Given the description of an element on the screen output the (x, y) to click on. 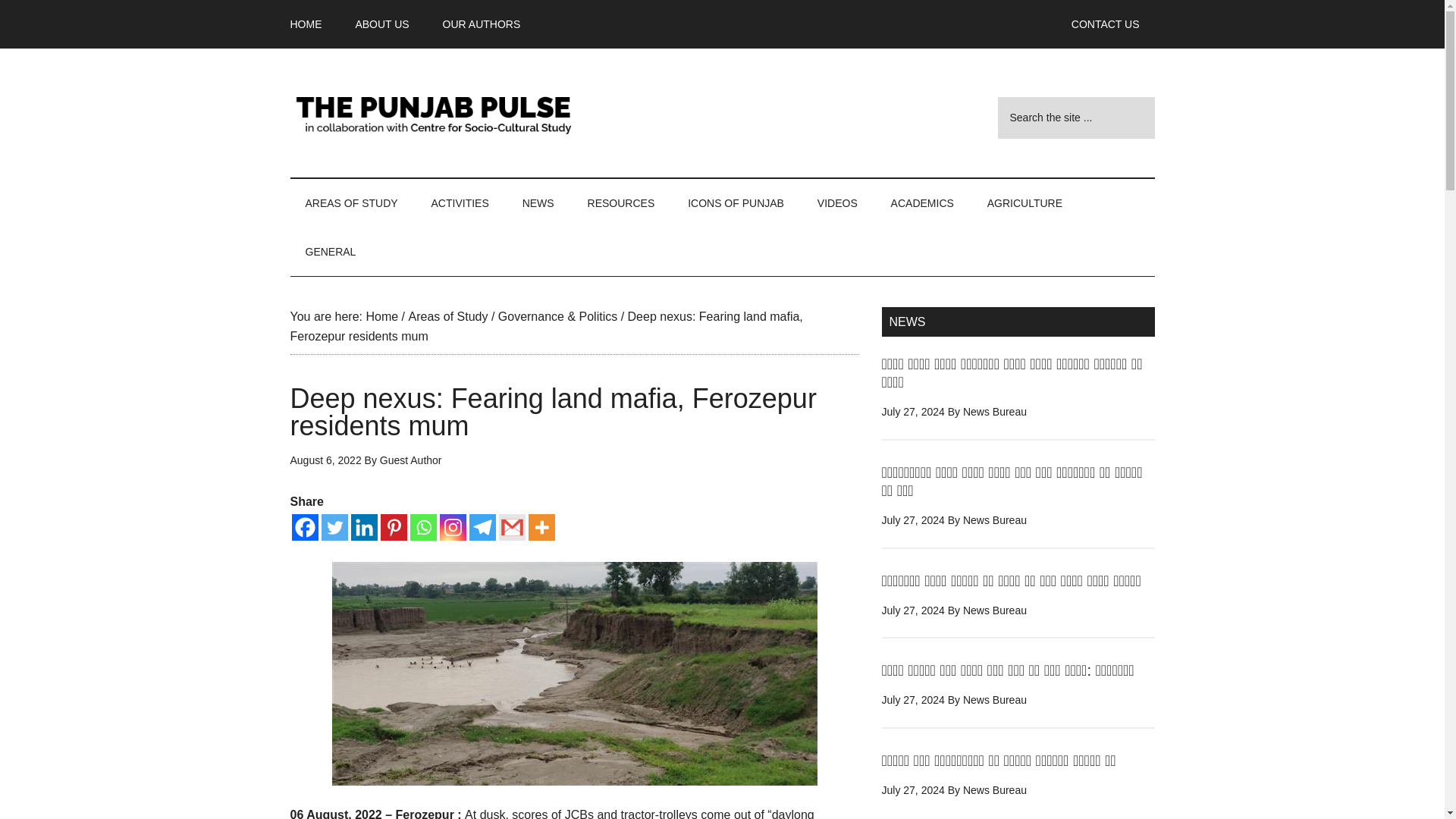
More (540, 527)
Facebook (304, 527)
GENERAL (330, 251)
Google Gmail (512, 527)
Linkedin (363, 527)
Telegram (481, 527)
Instagram (452, 527)
The Punjab Pulse (433, 112)
Guest Author (411, 460)
AGRICULTURE (1024, 203)
ICONS OF PUNJAB (735, 203)
OUR AUTHORS (481, 24)
VIDEOS (837, 203)
